Given the description of an element on the screen output the (x, y) to click on. 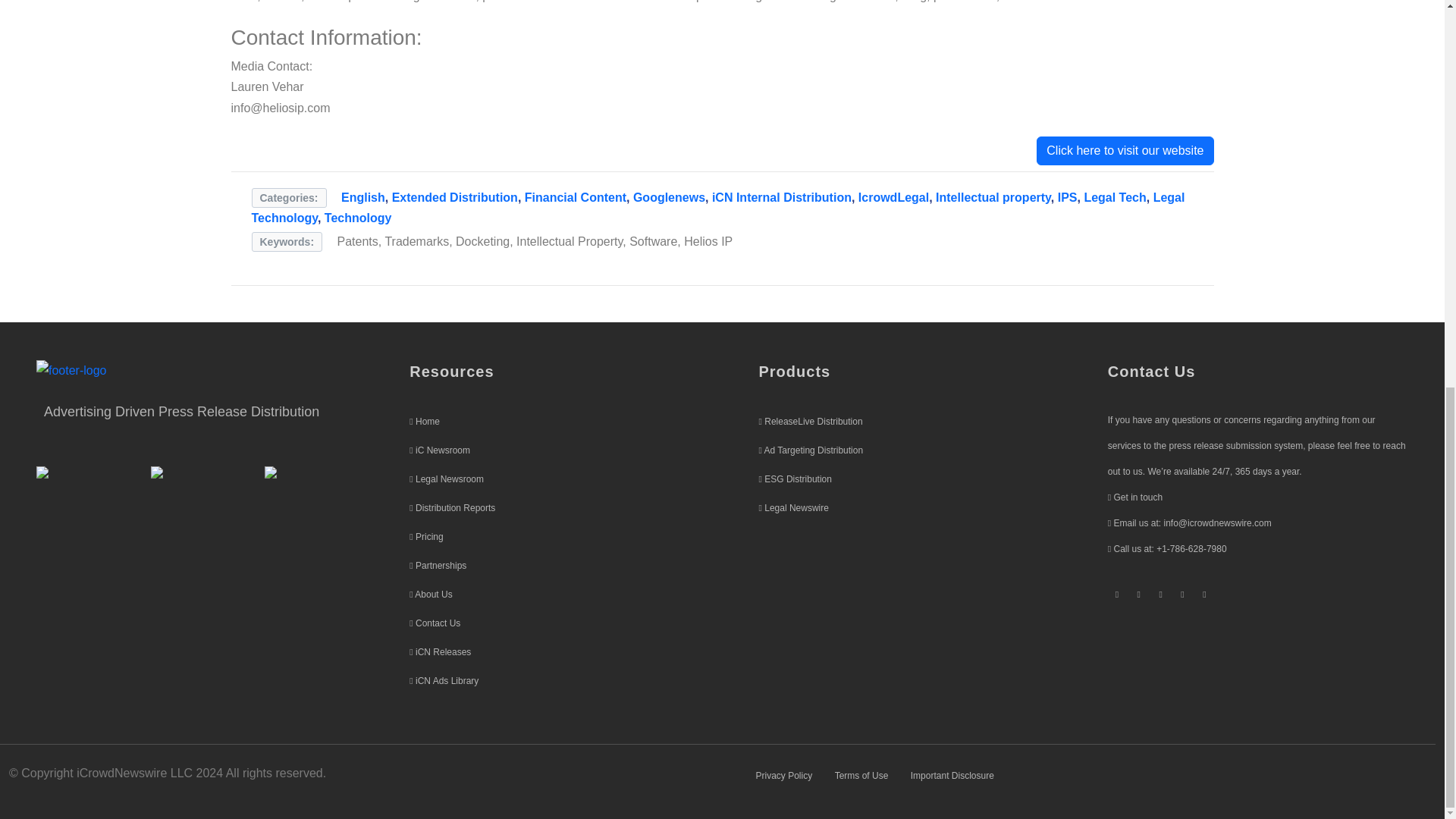
Googlenews (668, 196)
iCN Internal Distribution (781, 196)
IcrowdLegal (893, 196)
Legal Tech (1114, 196)
Click here to visit our website (1124, 150)
Extended Distribution (454, 196)
Intellectual property (993, 196)
Financial Content (575, 196)
Technology (357, 217)
IPS (1067, 196)
